Given the description of an element on the screen output the (x, y) to click on. 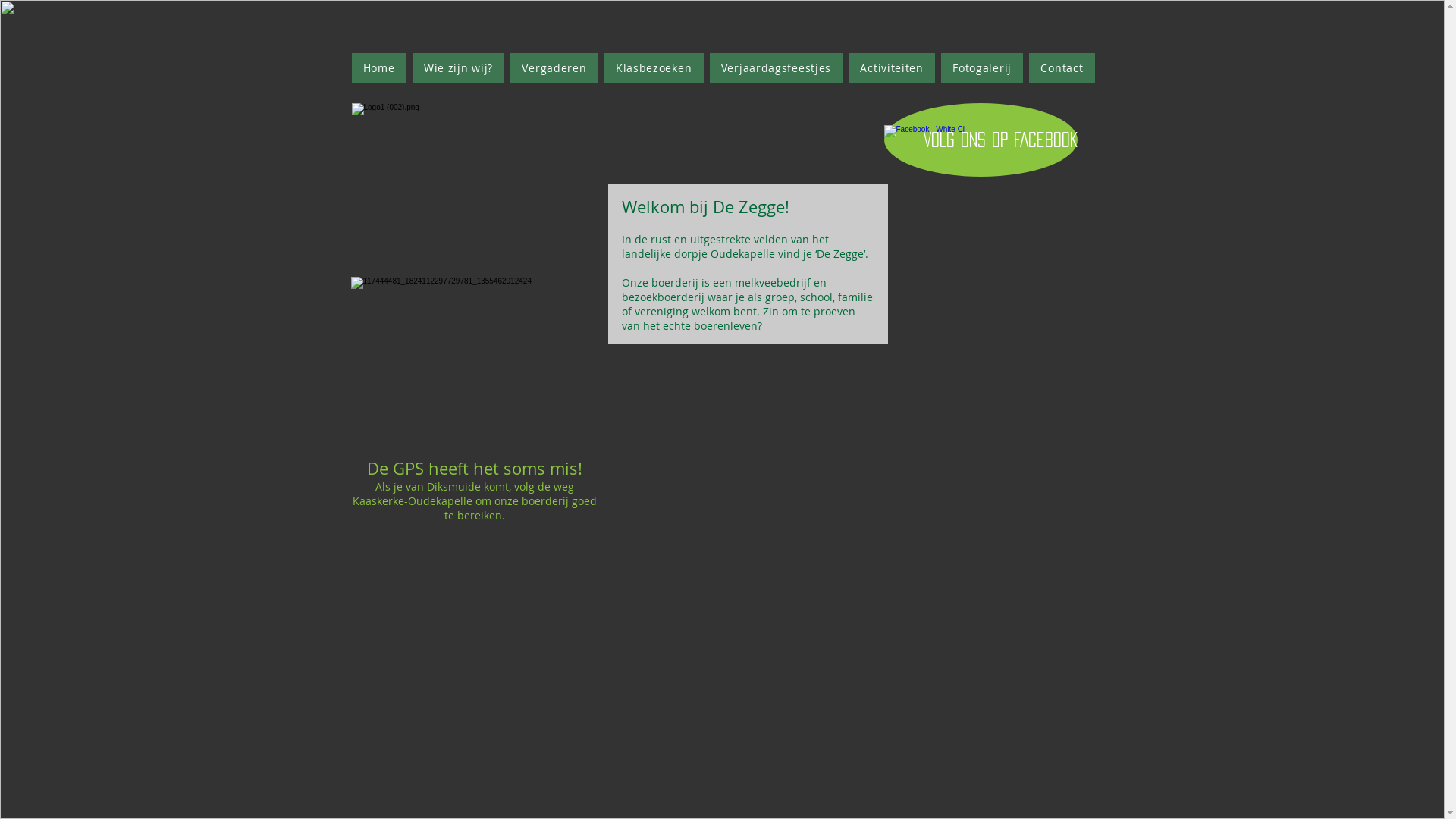
Home Element type: text (378, 67)
VOLG ONS OP FACEBOOK Element type: text (980, 139)
Verjaardagsfeestjes Element type: text (776, 67)
Fotogalerij Element type: text (981, 67)
Contact Element type: text (1061, 67)
Wie zijn wij? Element type: text (458, 67)
Klasbezoeken Element type: text (653, 67)
Vergaderen Element type: text (553, 67)
